Given the description of an element on the screen output the (x, y) to click on. 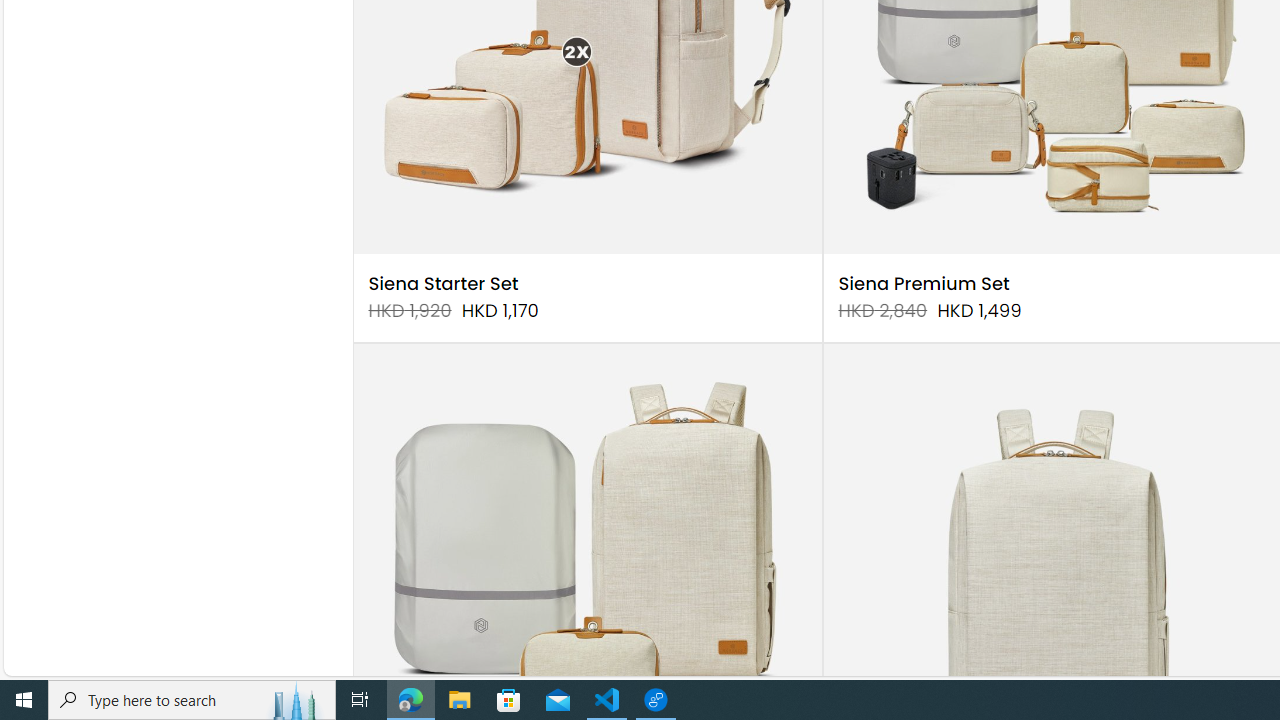
Siena Starter Set (443, 283)
Siena Premium Set (923, 283)
